Given the description of an element on the screen output the (x, y) to click on. 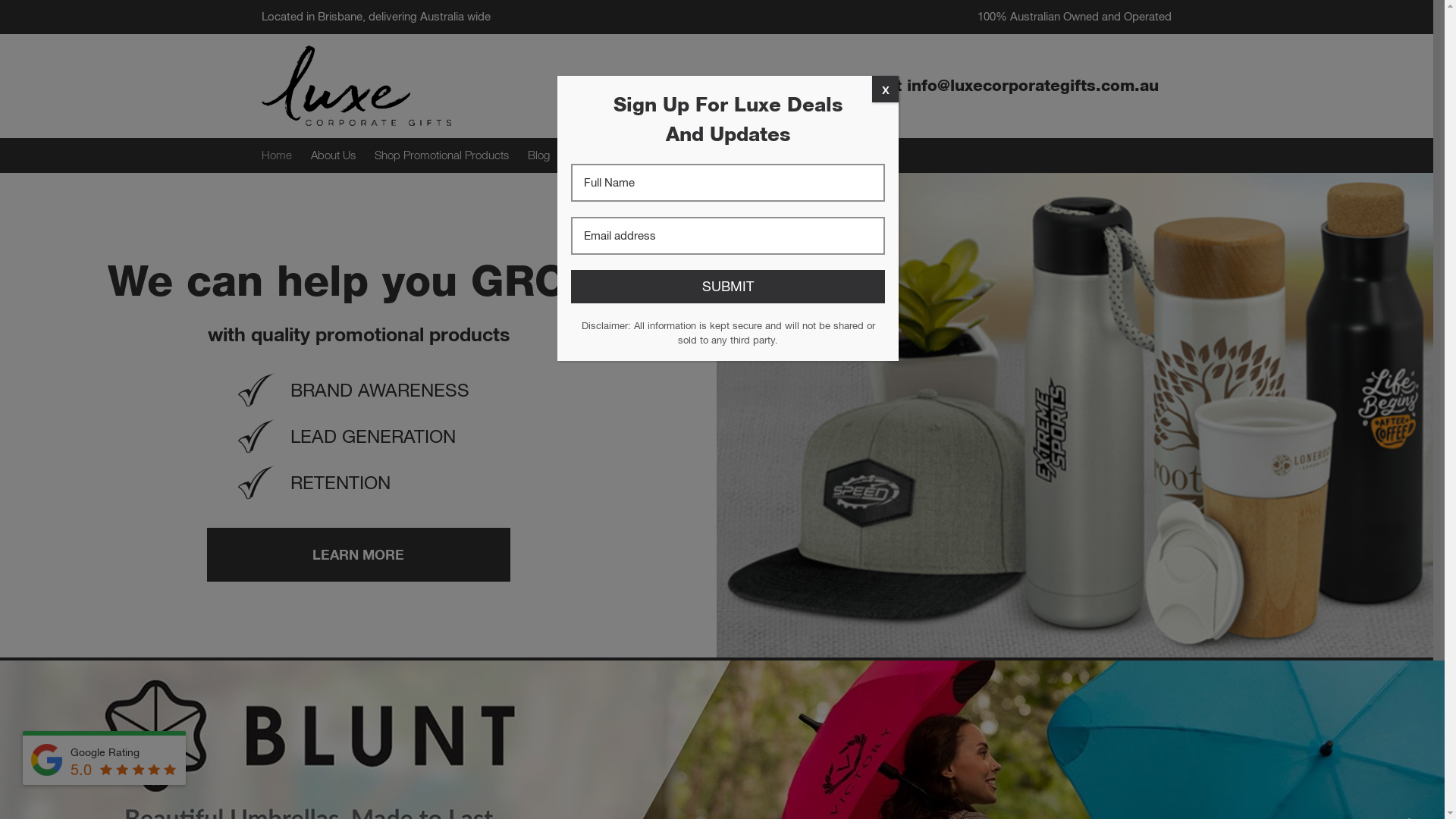
info@luxecorporategifts.com.au Element type: text (1032, 84)
Contact Us Element type: text (595, 155)
x Element type: text (885, 88)
About Us Element type: text (332, 155)
Shop Promotional Products Element type: text (441, 155)
Submit Element type: text (727, 286)
Blog Element type: text (538, 155)
LEARN MORE Element type: text (357, 554)
Home Element type: text (276, 155)
